Given the description of an element on the screen output the (x, y) to click on. 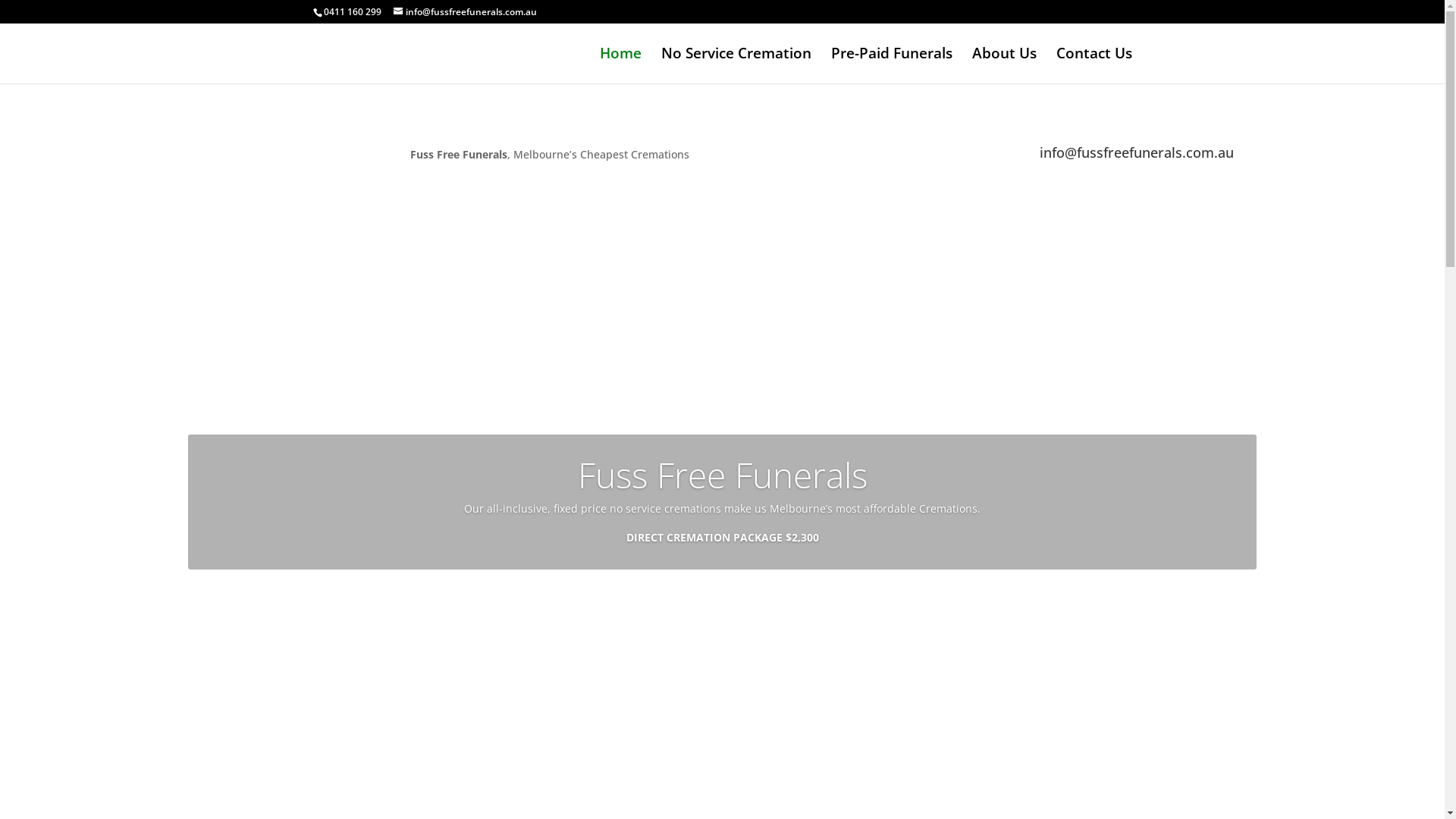
Fuss Free Funerals Element type: text (722, 474)
info@fussfreefunerals.com.au Element type: text (464, 11)
About Us Element type: text (1004, 65)
Contact Us Element type: text (721, 603)
Contact Us Element type: text (1093, 65)
Pre-Paid Funerals Element type: text (891, 65)
No Service Cremation Element type: text (736, 65)
Home Element type: text (619, 65)
